Given the description of an element on the screen output the (x, y) to click on. 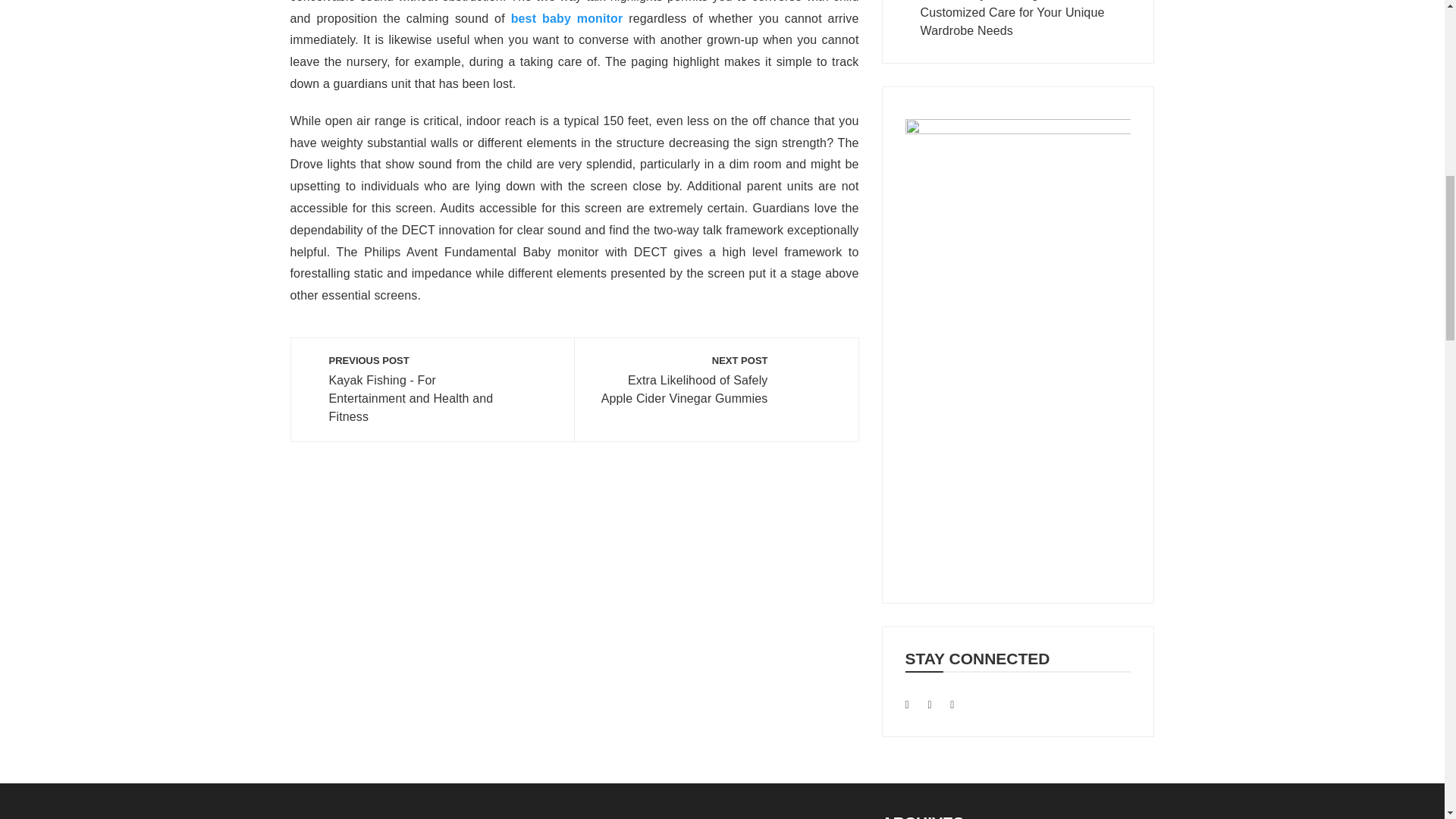
best baby monitor (567, 18)
